Given the description of an element on the screen output the (x, y) to click on. 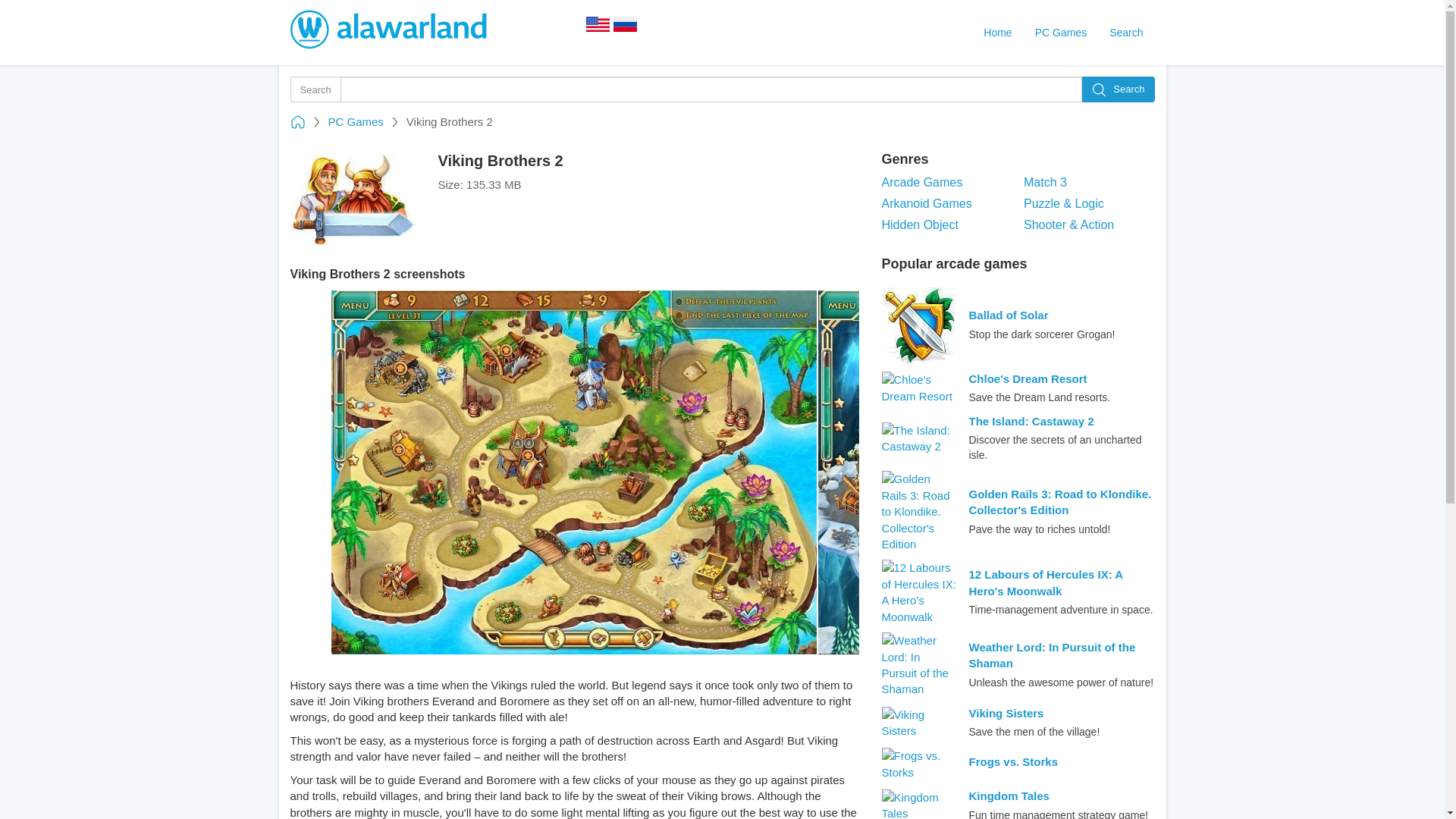
PC Games (354, 121)
We here (597, 28)
Arkanoid Games (945, 203)
Match 3 (1088, 182)
Viking Sisters (1006, 713)
Home (997, 32)
Frogs vs. Storks (1013, 761)
Download game Viking Brothers 2 in russian language (624, 28)
Ballad of Solar (1008, 314)
Arcade Games (945, 182)
Search (1125, 32)
Search (1117, 89)
12 Labours of Hercules IX: A Hero's Moonwalk (1061, 582)
PC Games (1060, 32)
